Given the description of an element on the screen output the (x, y) to click on. 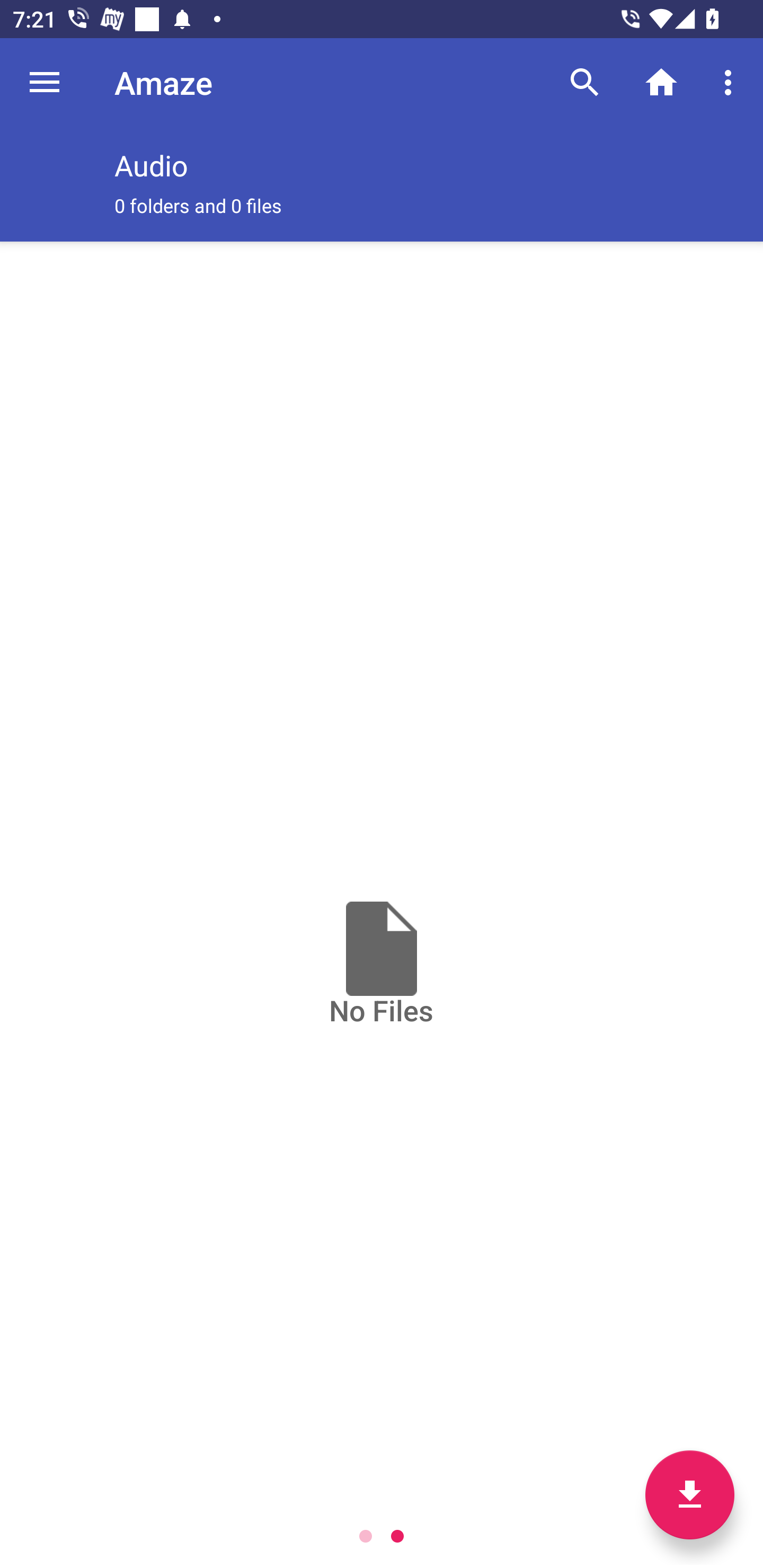
Navigate up (44, 82)
Search (585, 81)
Home (661, 81)
More options (731, 81)
